Given the description of an element on the screen output the (x, y) to click on. 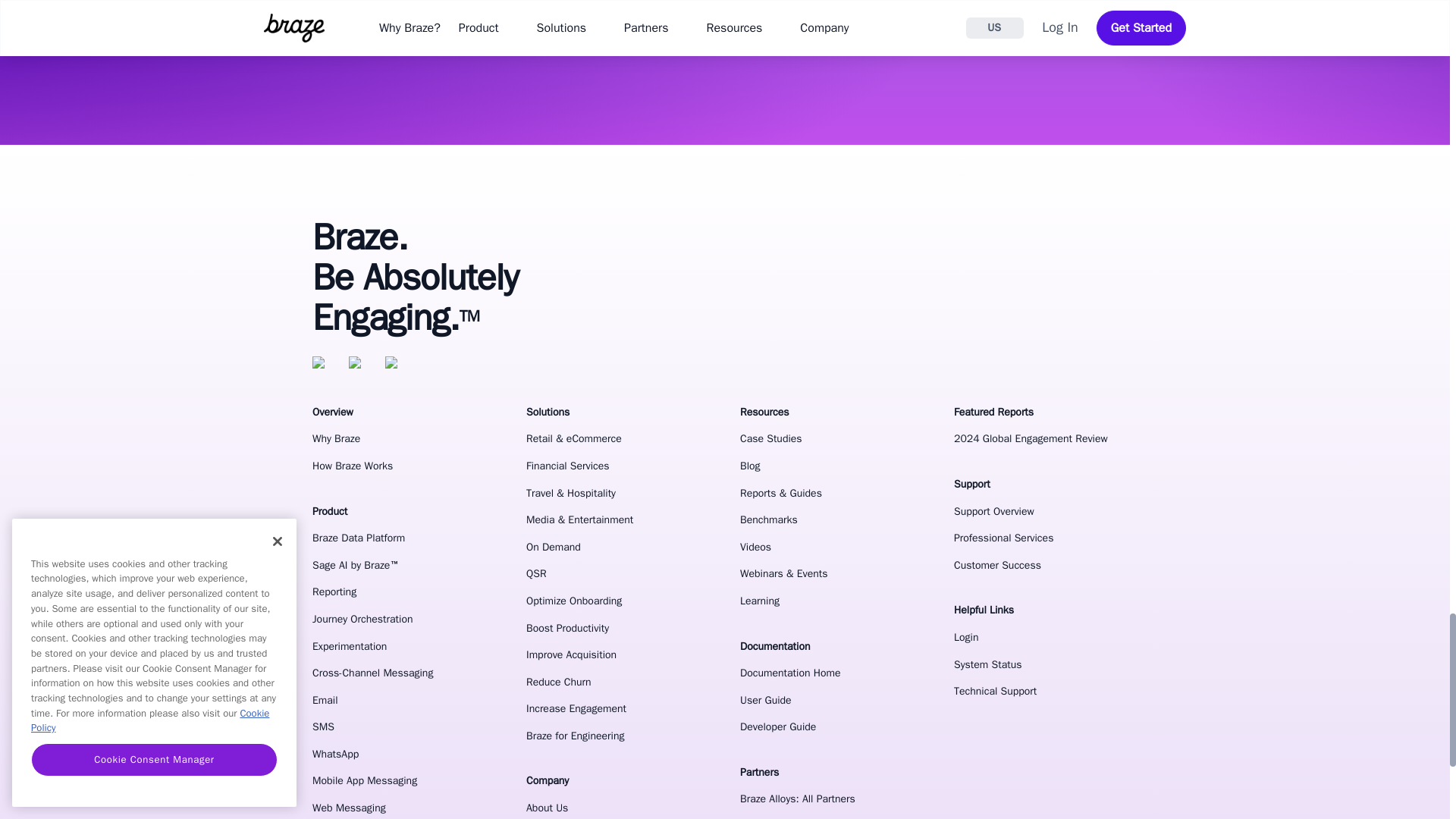
See How Braze Works (783, 11)
Experimentation (404, 646)
Reporting (404, 591)
How Braze Works (404, 466)
Journey Orchestration (404, 619)
Get Started (638, 11)
Braze Data Platform (404, 538)
Why Braze (404, 438)
